Given the description of an element on the screen output the (x, y) to click on. 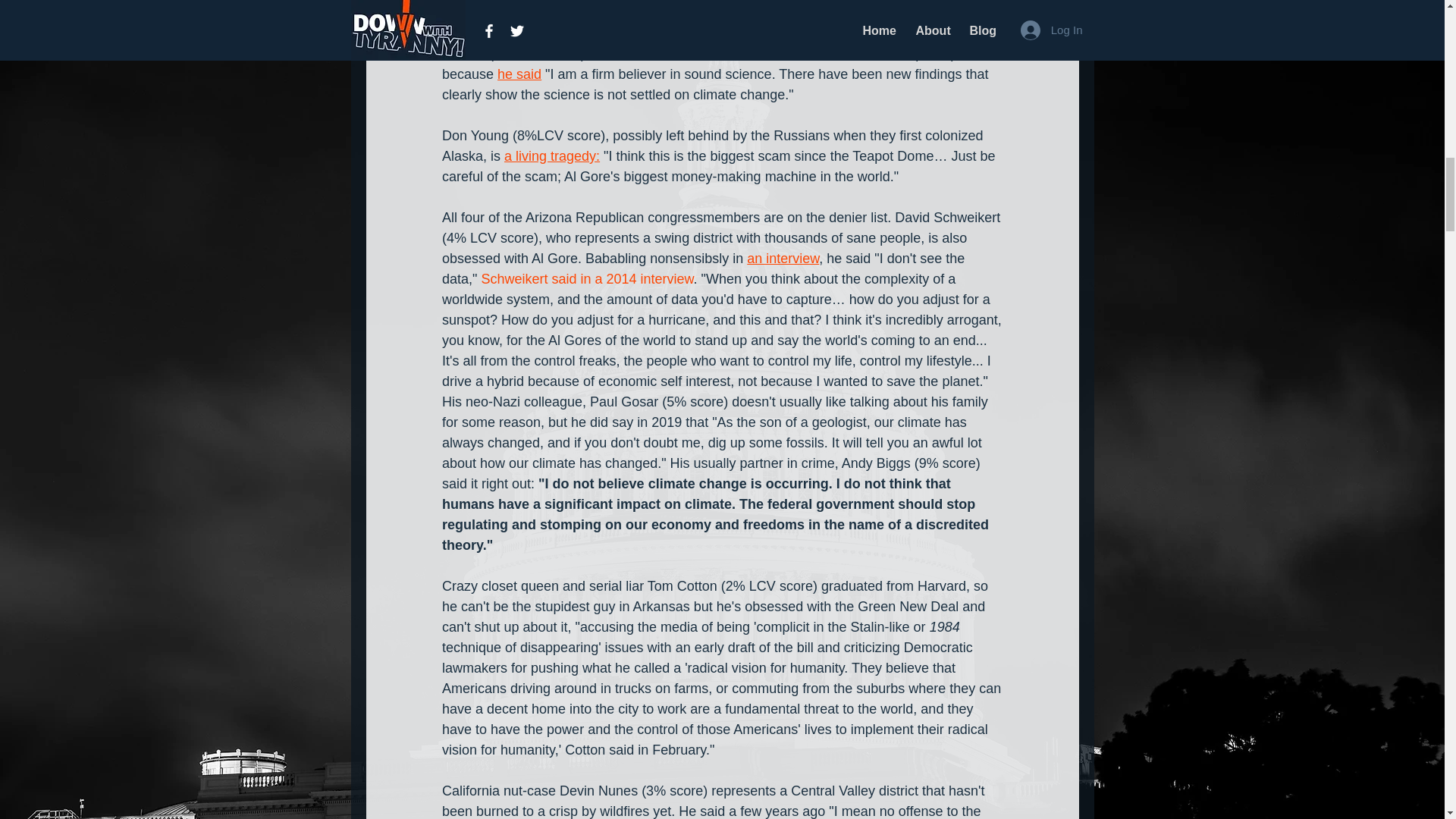
an interview (782, 258)
Schweikert said in a 2014 interview (586, 278)
a living tragedy: (551, 155)
he said (519, 73)
